Given the description of an element on the screen output the (x, y) to click on. 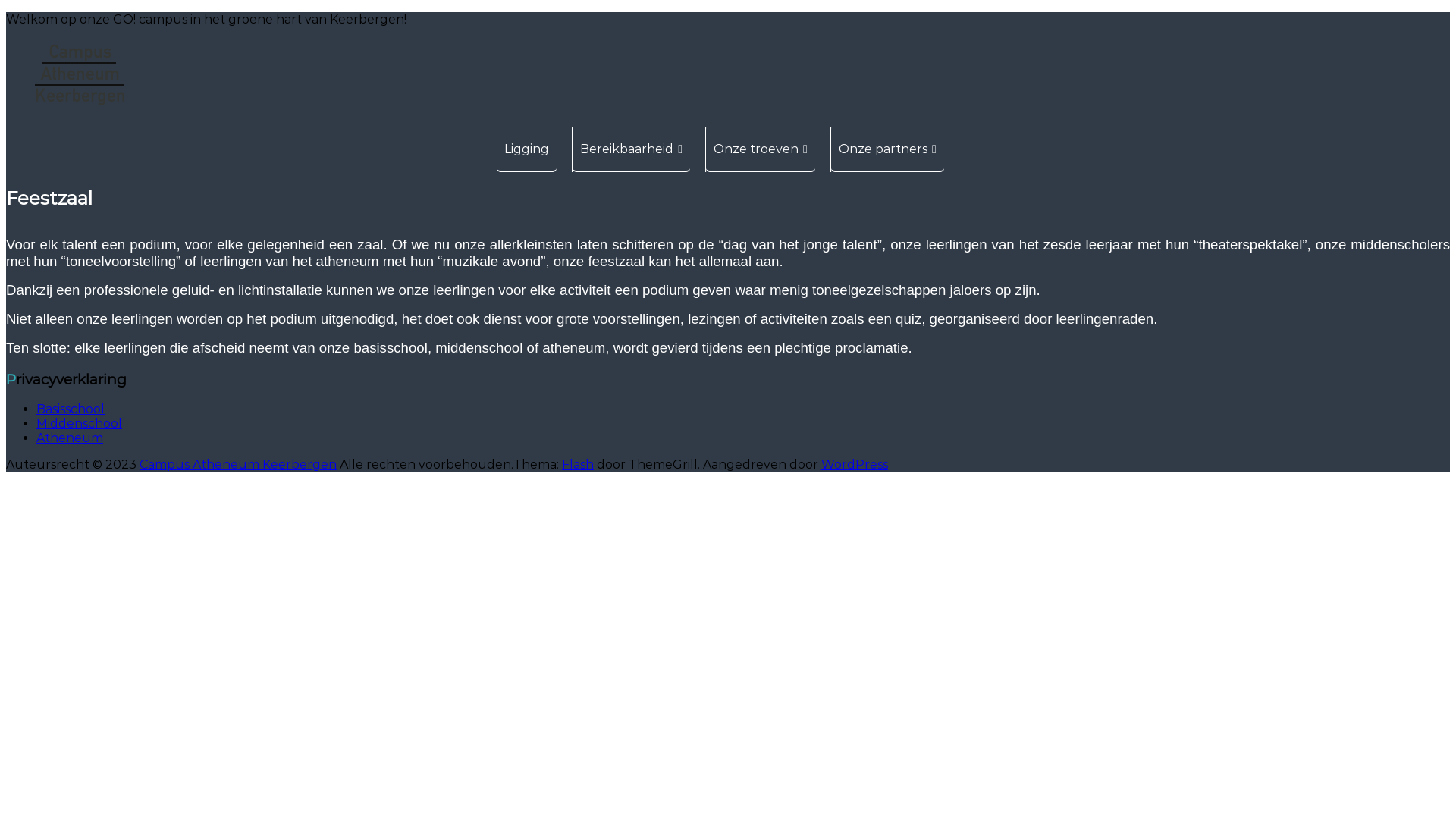
WordPress Element type: text (854, 464)
Ga naar de inhoud Element type: text (5, 11)
Flash Element type: text (577, 464)
Campus Atheneum Keerbergen Element type: text (237, 464)
Campus Atheneum Keerbergen Element type: text (43, 160)
Atheneum Element type: text (69, 437)
Bereikbaarheid Element type: text (631, 149)
Ligging Element type: text (526, 149)
Onze troeven Element type: text (760, 149)
Middenschool Element type: text (79, 423)
Onze partners Element type: text (887, 149)
Basisschool Element type: text (70, 408)
